Given the description of an element on the screen output the (x, y) to click on. 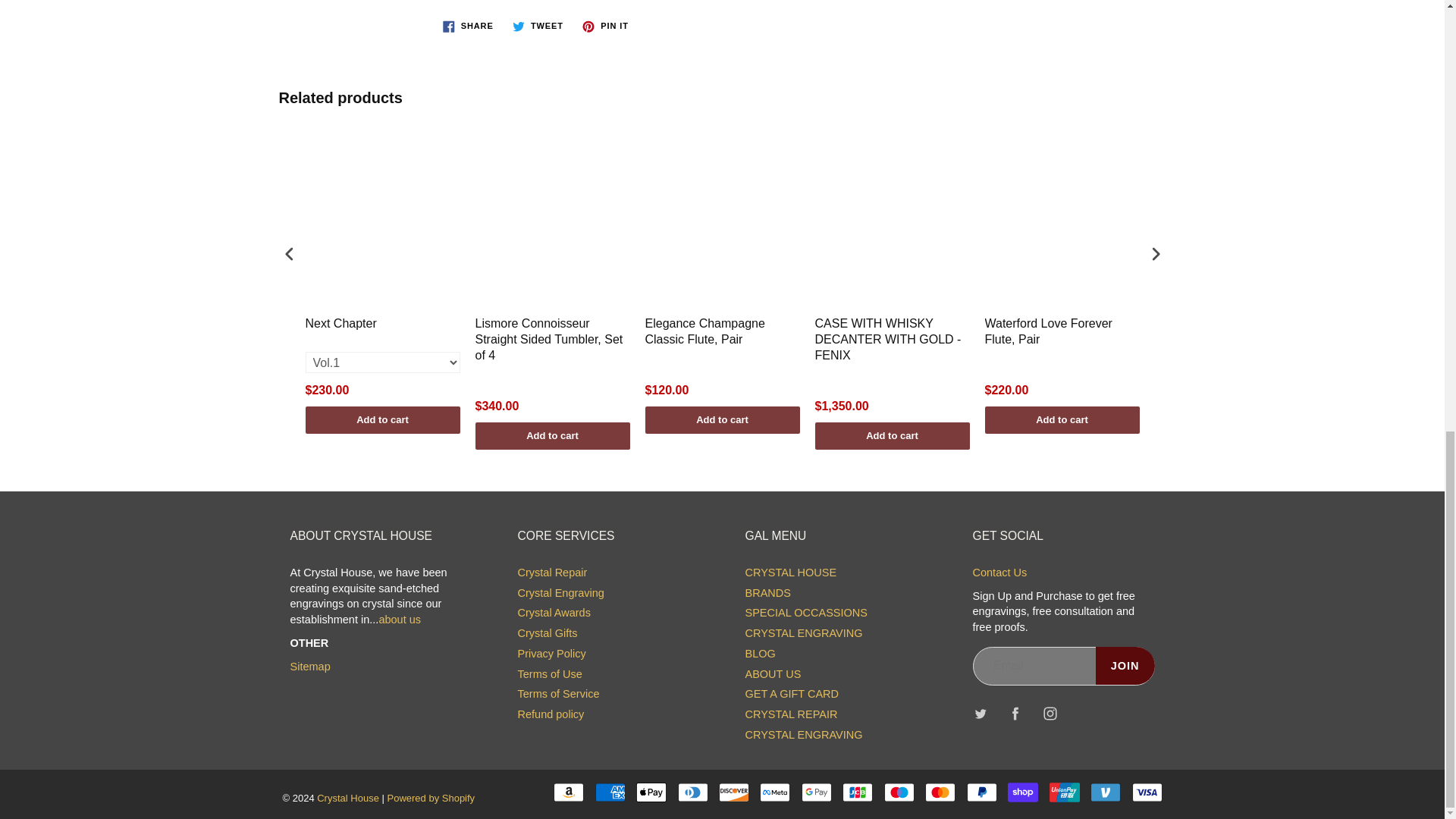
Meta Pay (775, 792)
Apple Pay (651, 792)
JCB (857, 792)
Maestro (898, 792)
Amazon (568, 792)
American Express (610, 792)
Discover (734, 792)
PayPal (981, 792)
Shop Pay (1022, 792)
Diners Club (692, 792)
